Given the description of an element on the screen output the (x, y) to click on. 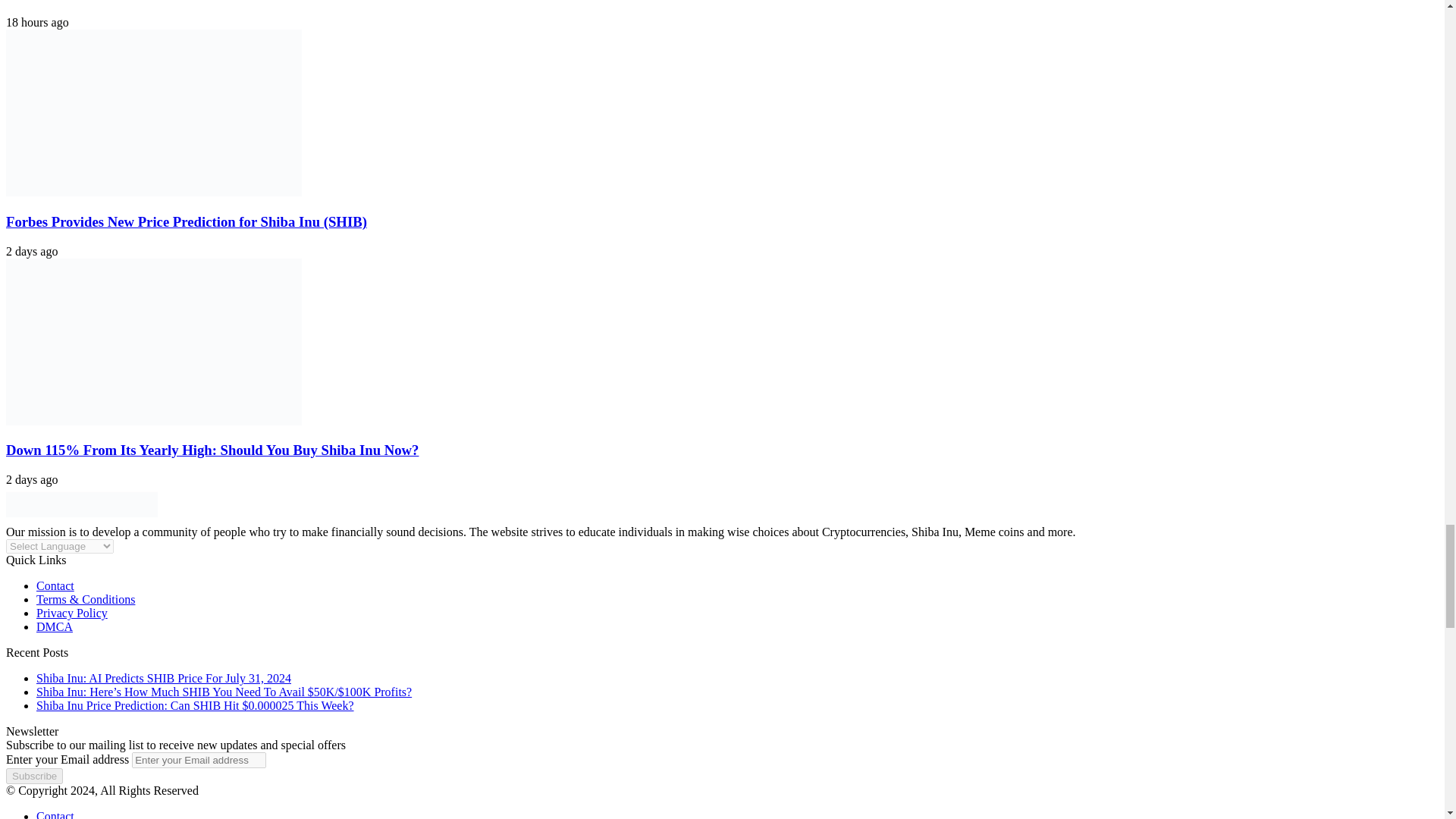
Subscribe (33, 775)
